Given the description of an element on the screen output the (x, y) to click on. 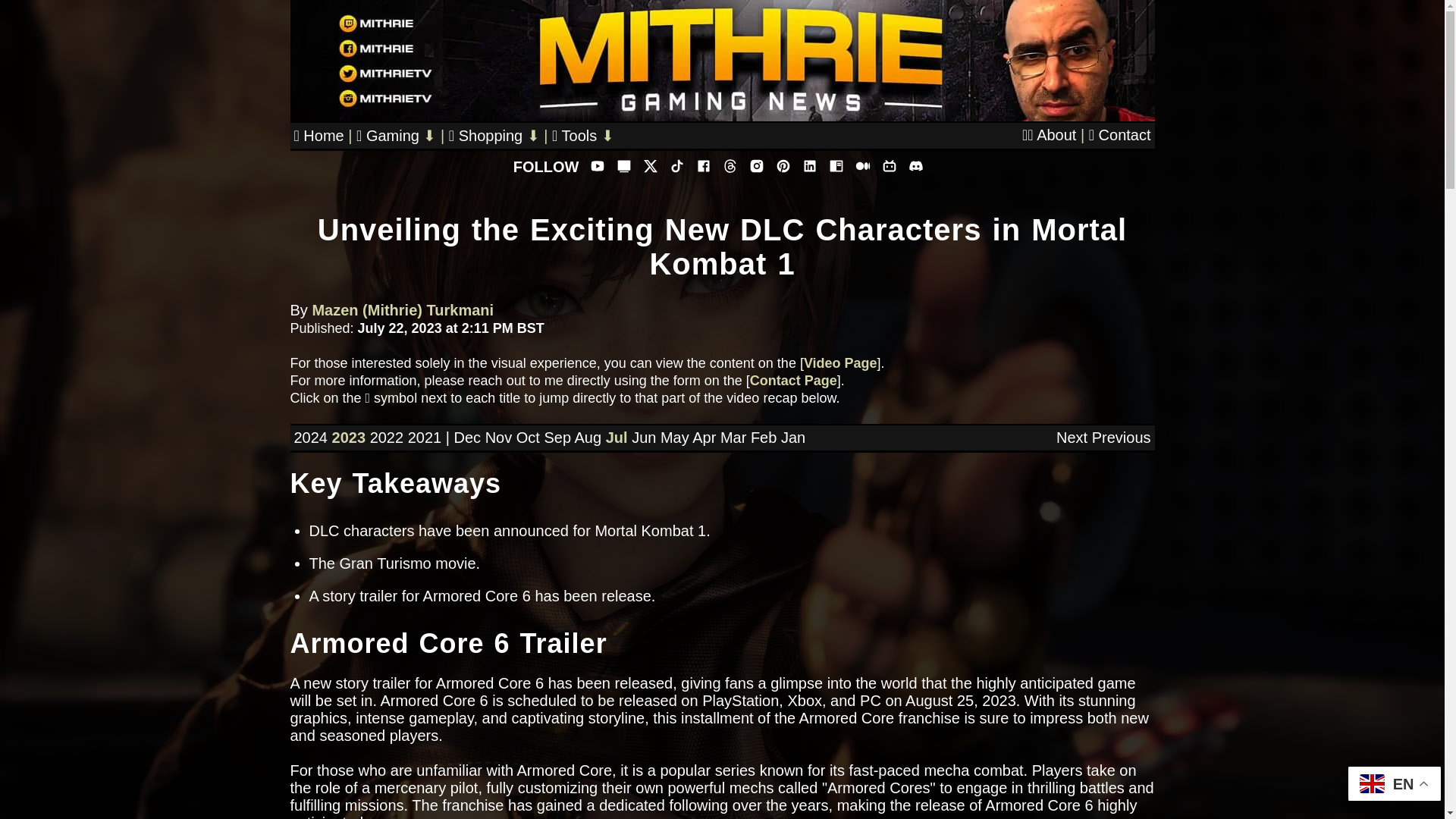
2022 (386, 437)
2021 (424, 437)
Dec (466, 437)
Video Page (840, 363)
2024 (311, 437)
Contact Page (793, 380)
